Given the description of an element on the screen output the (x, y) to click on. 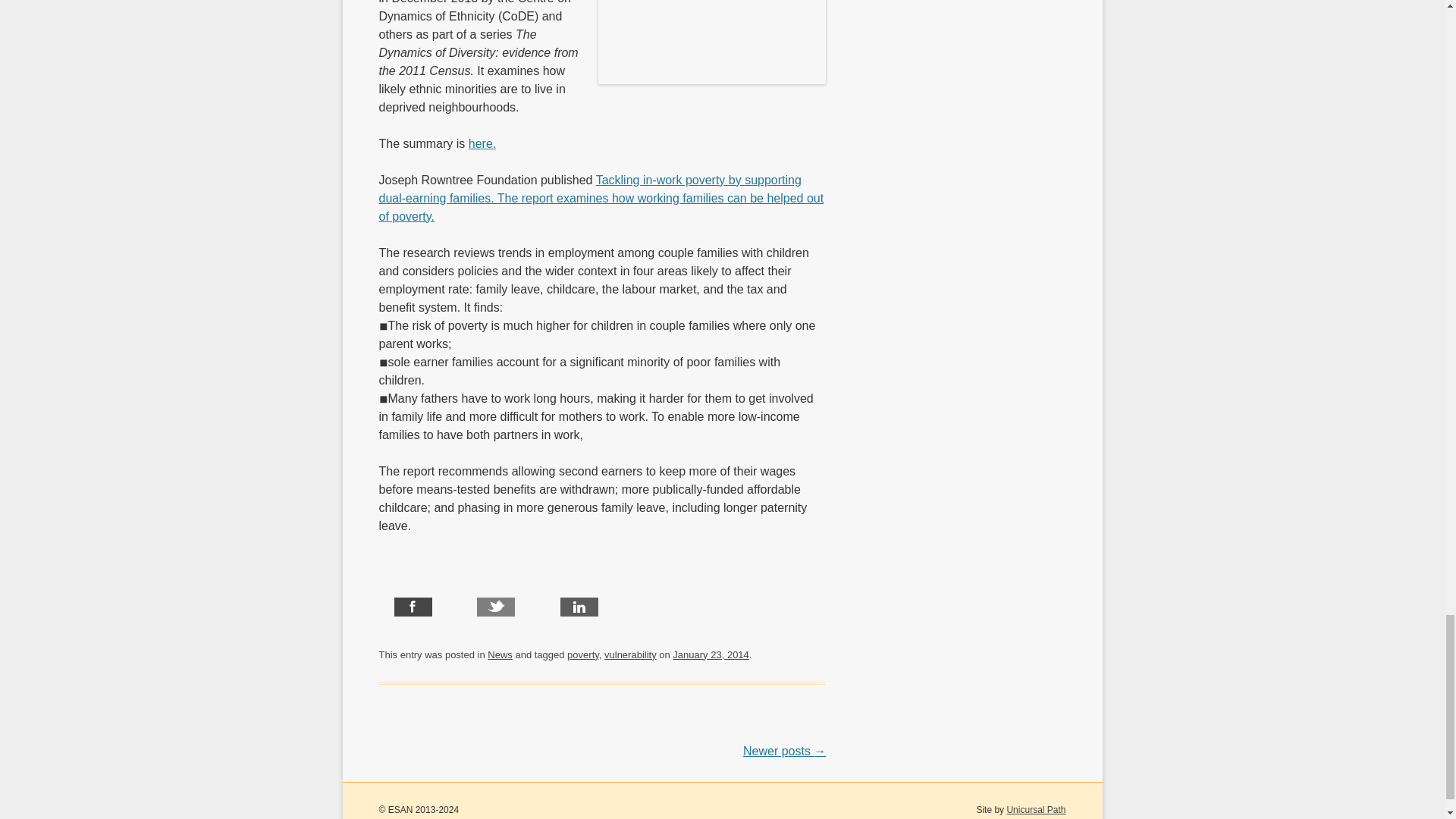
2:42 pm (710, 654)
